Given the description of an element on the screen output the (x, y) to click on. 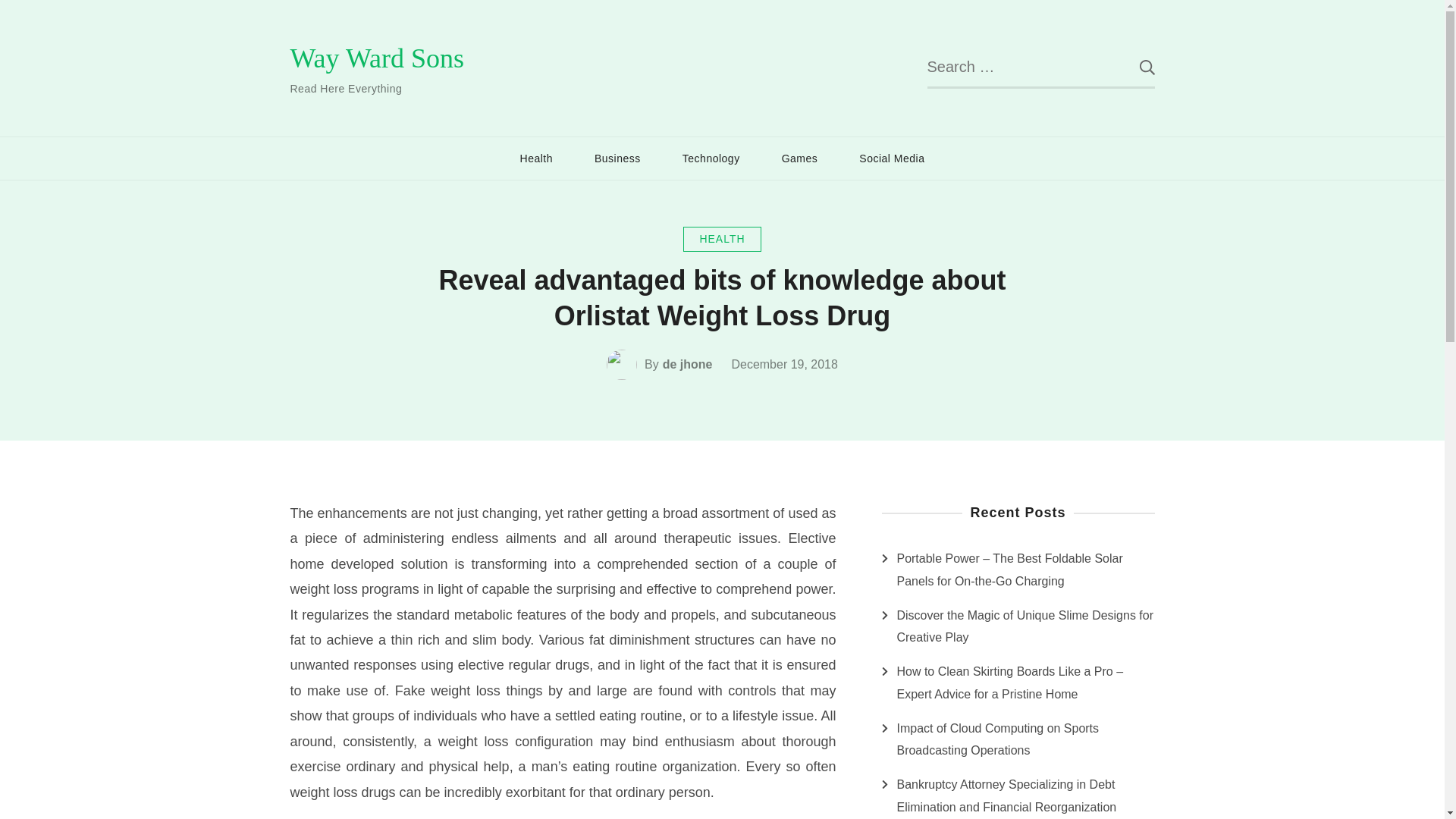
Social Media (891, 158)
December 19, 2018 (783, 363)
de jhone (687, 363)
Technology (710, 158)
Impact of Cloud Computing on Sports Broadcasting Operations (1025, 739)
Search (1135, 67)
Way Ward Sons (376, 58)
Search (1135, 67)
Business (617, 158)
